Given the description of an element on the screen output the (x, y) to click on. 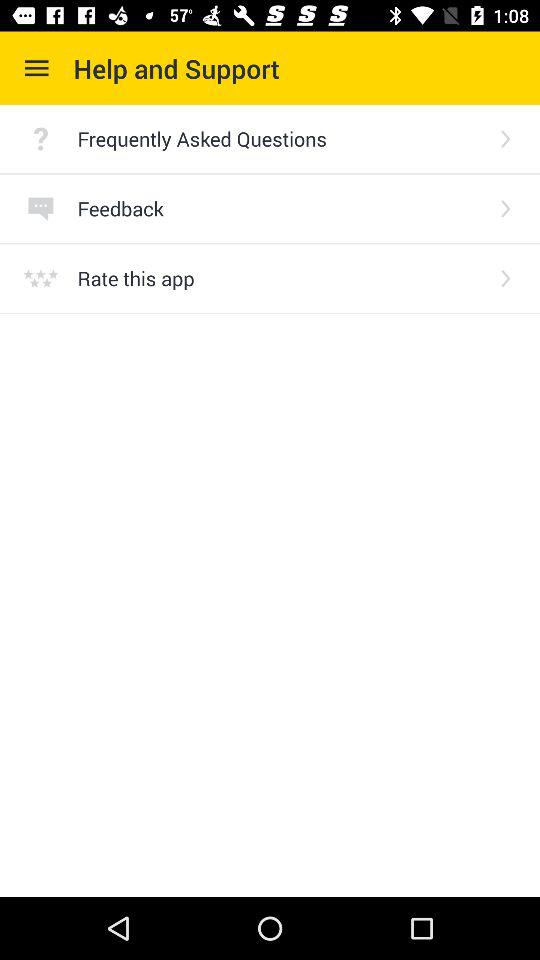
turn off the item to the left of the help and support (36, 68)
